Given the description of an element on the screen output the (x, y) to click on. 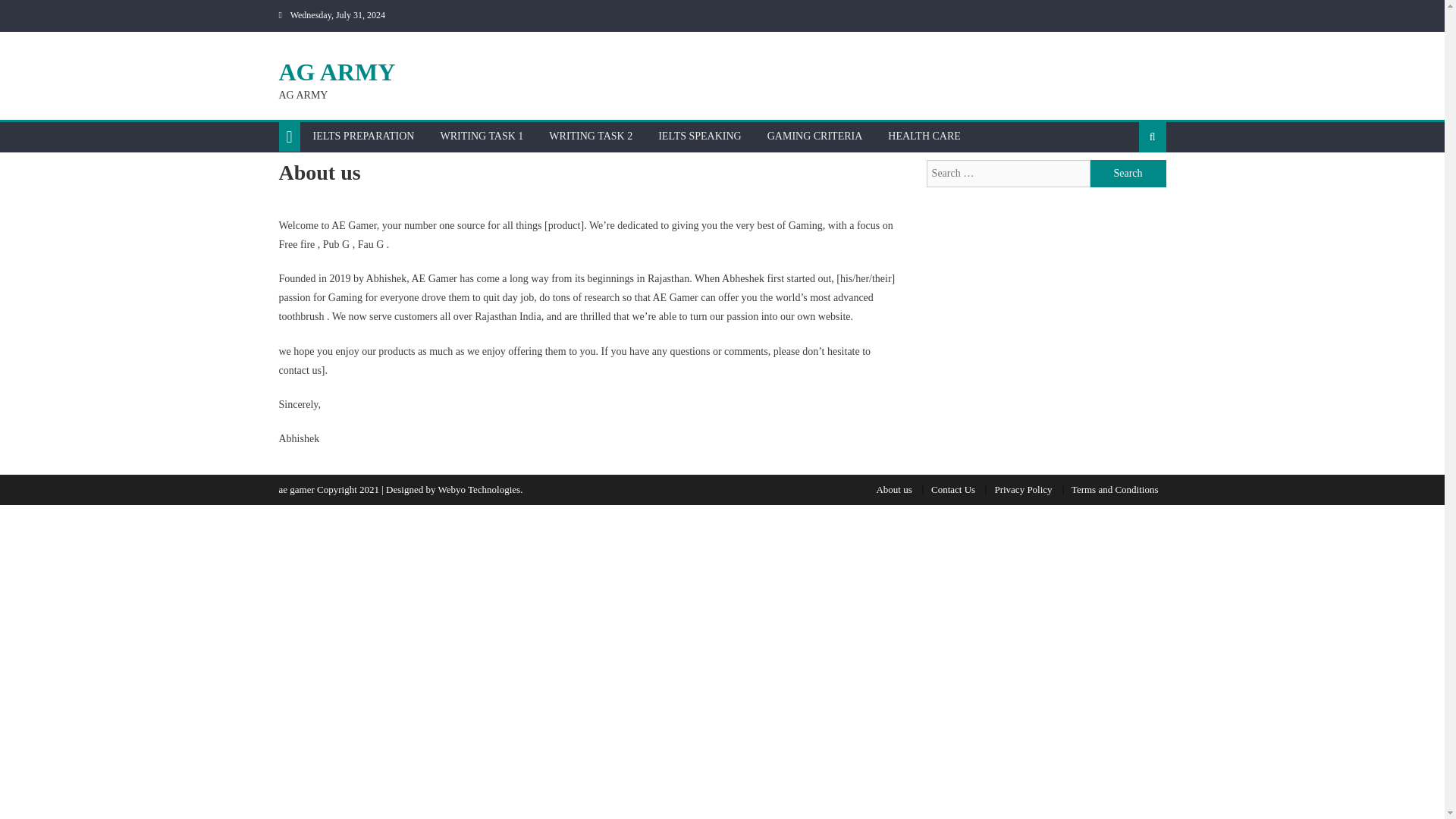
WRITING TASK 2 (590, 136)
IELTS PREPARATION (363, 136)
WRITING TASK 1 (481, 136)
About us (893, 489)
Contact Us (953, 489)
Search (1128, 185)
Privacy Policy (1022, 489)
Search (1128, 173)
Search (1128, 173)
IELTS SPEAKING (699, 136)
Search (1128, 173)
Terms and Conditions (1114, 489)
GAMING CRITERIA (815, 136)
AG ARMY (337, 71)
HEALTH CARE (924, 136)
